Given the description of an element on the screen output the (x, y) to click on. 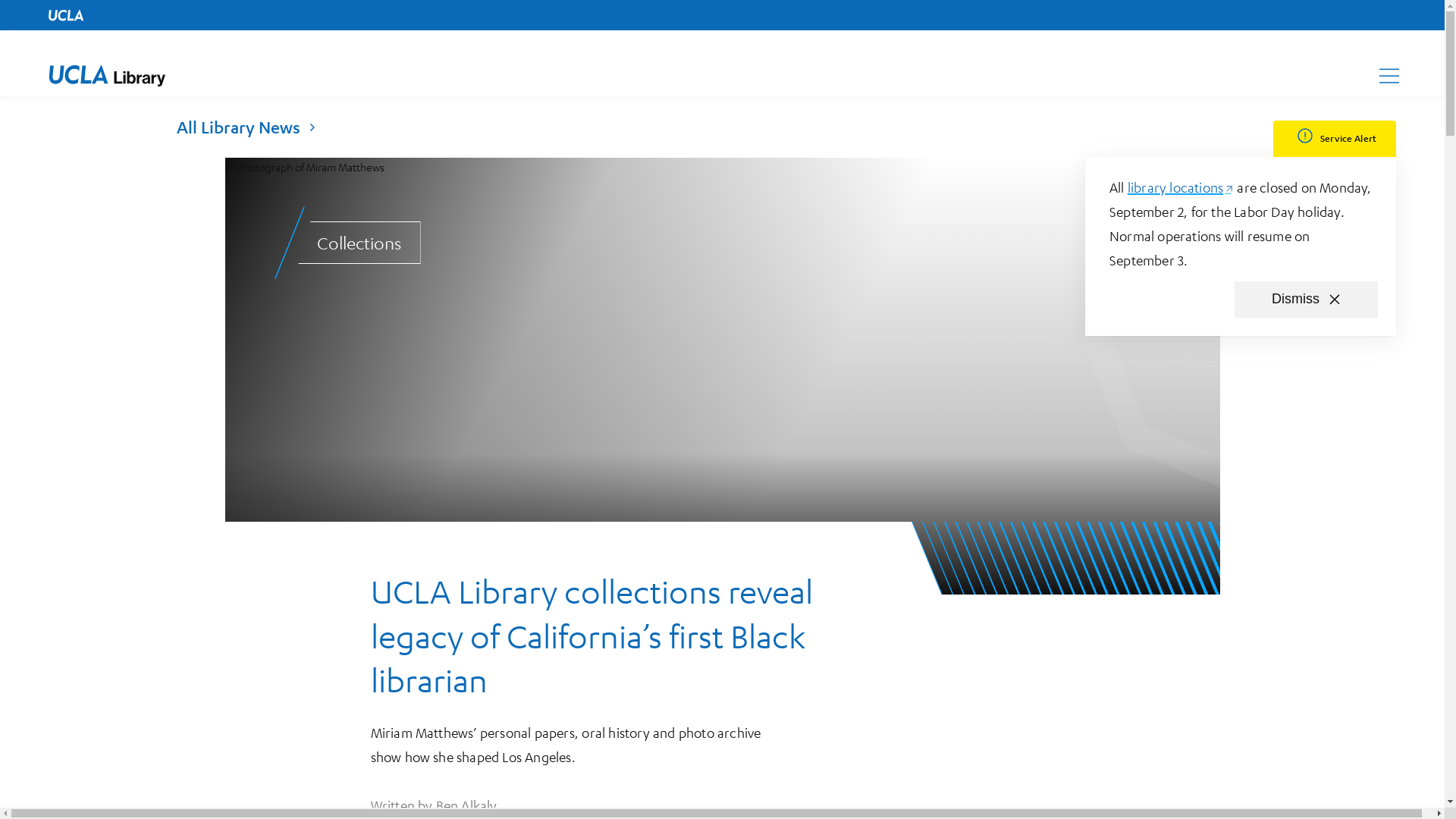
All Library News (237, 126)
Service Alert (1334, 138)
UCLA Home (1305, 299)
